Given the description of an element on the screen output the (x, y) to click on. 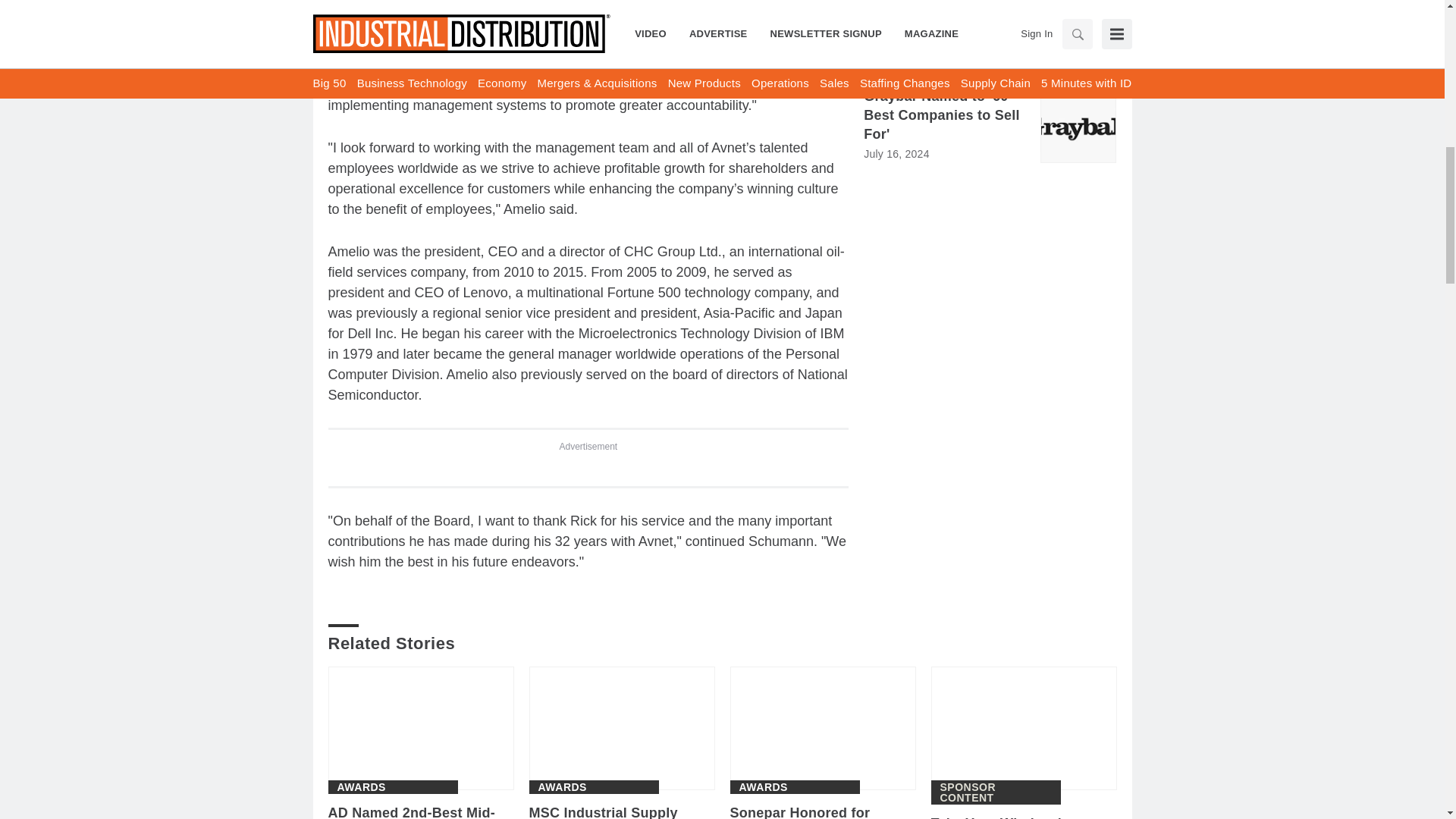
Awards (360, 787)
Sponsor Content (996, 792)
Awards (562, 787)
Awards (762, 787)
